Given the description of an element on the screen output the (x, y) to click on. 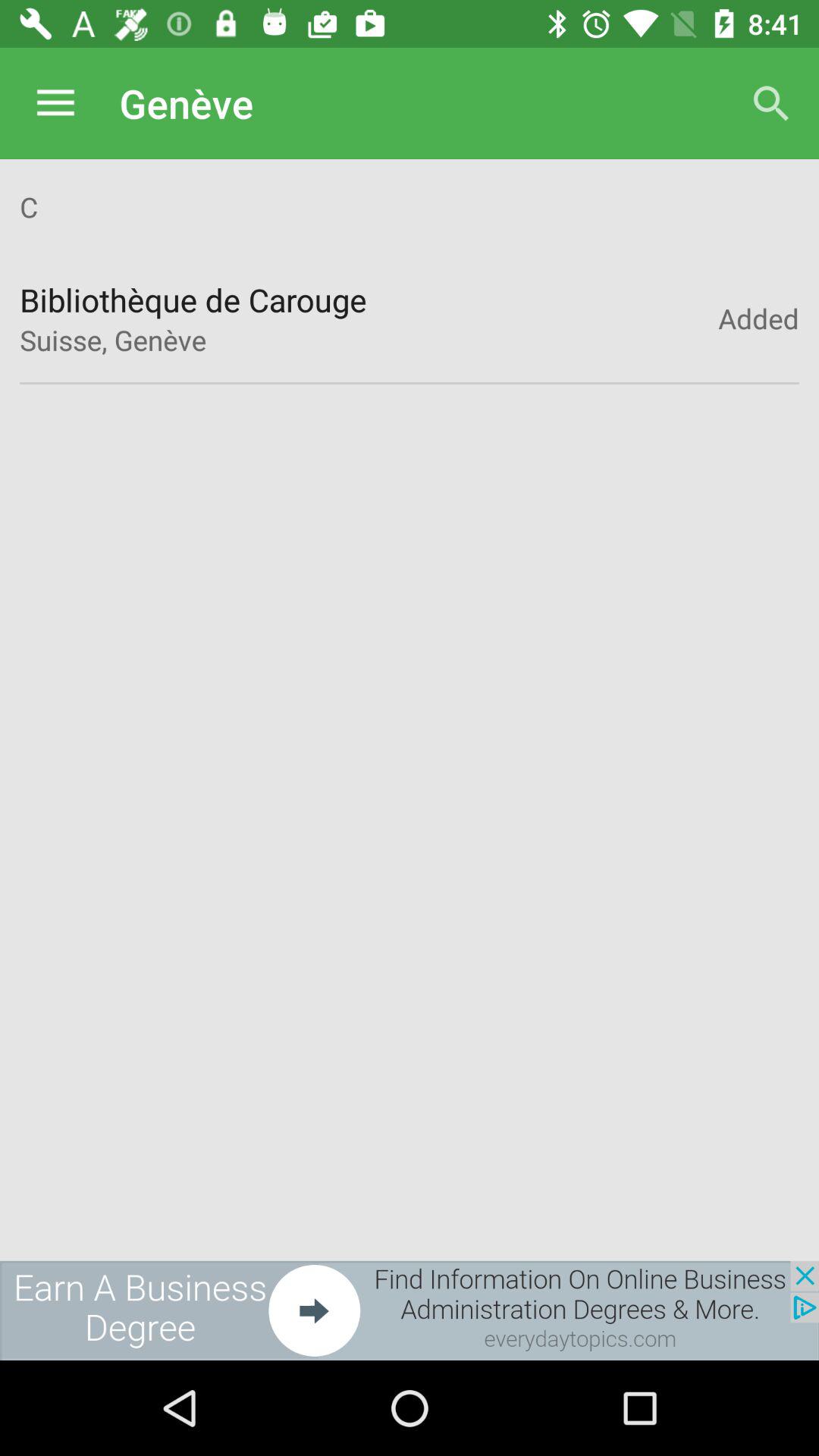
go to the advertisement page (409, 1310)
